Given the description of an element on the screen output the (x, y) to click on. 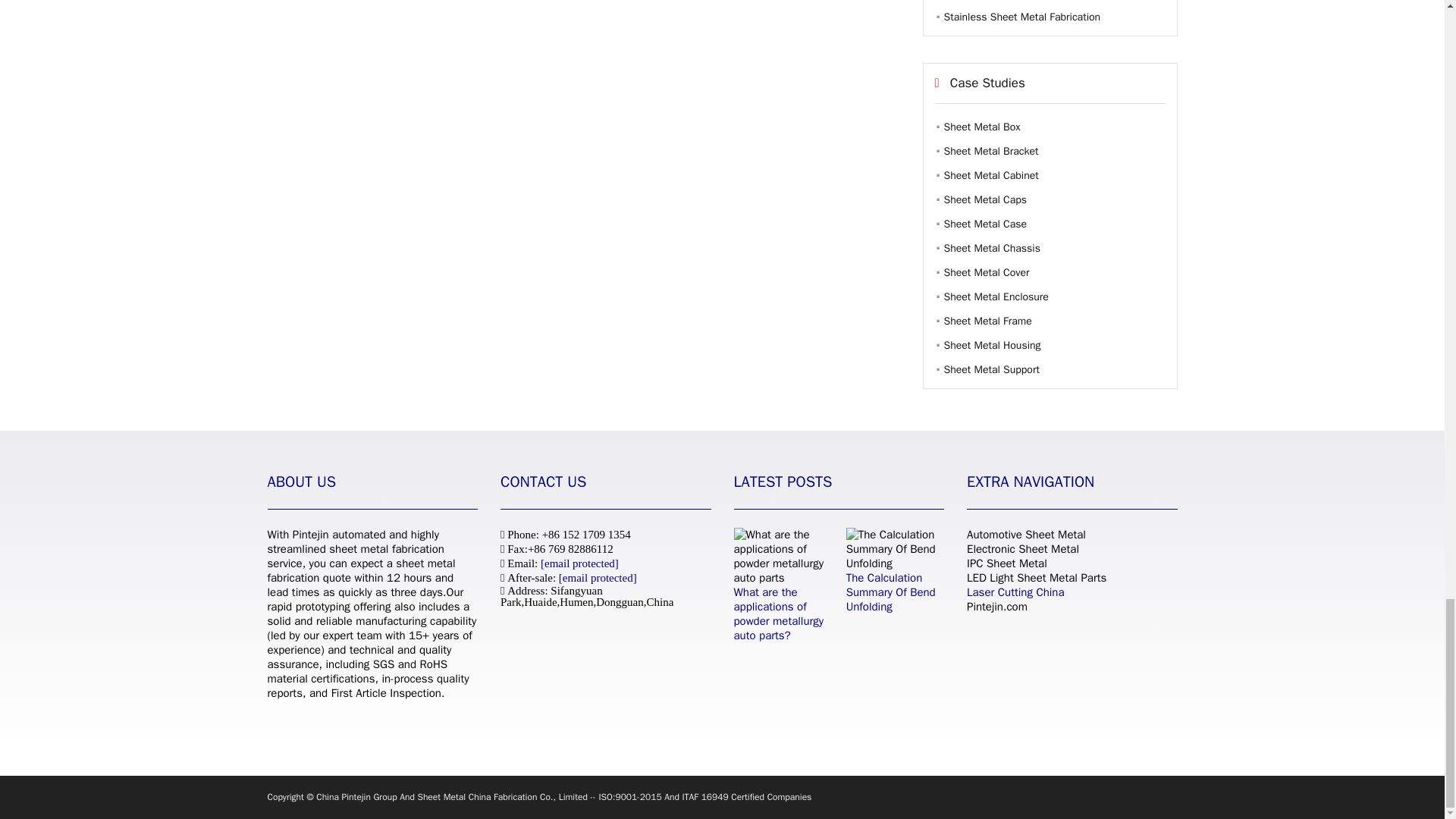
Laser Cutting China (1015, 591)
